Given the description of an element on the screen output the (x, y) to click on. 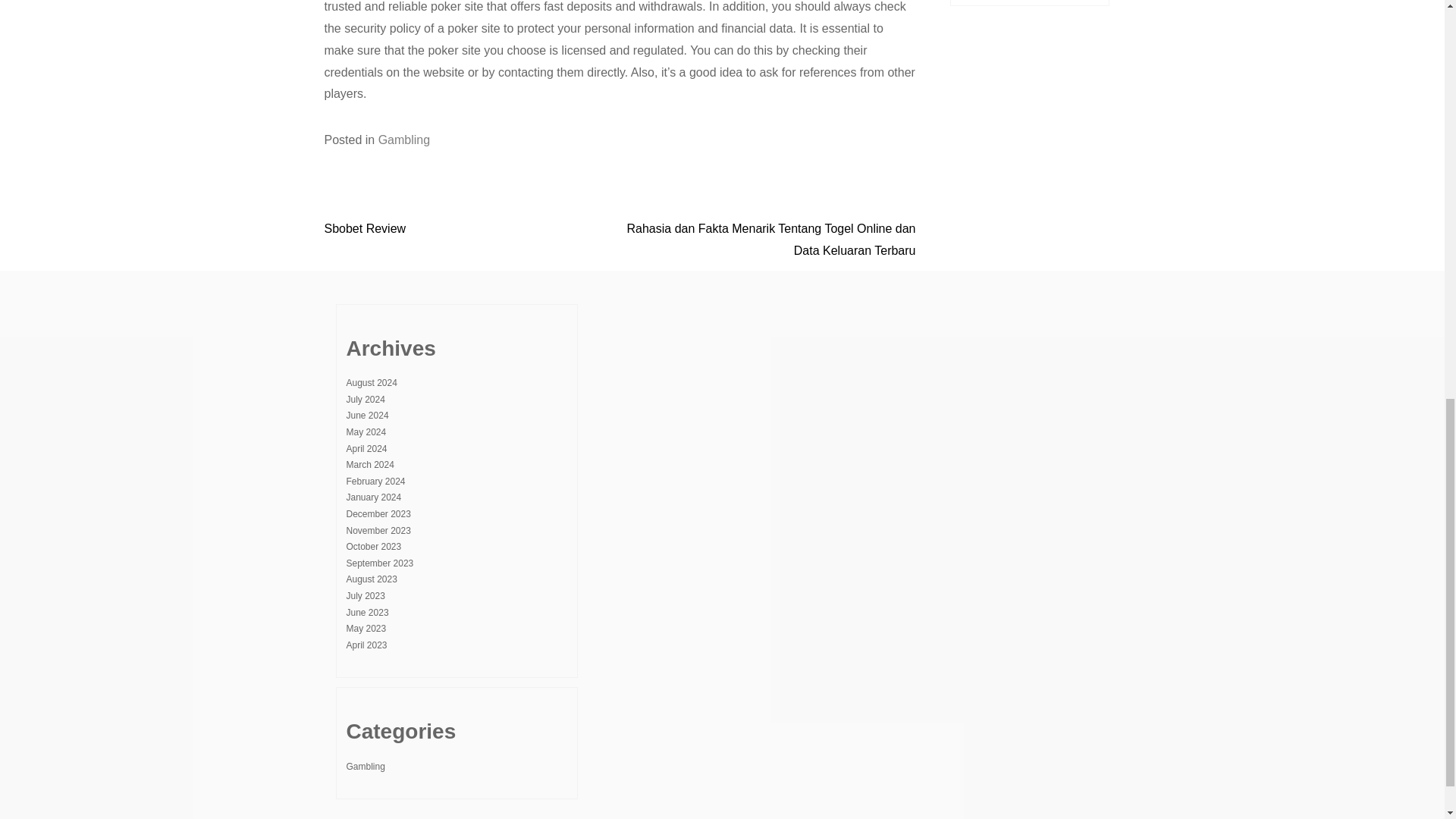
August 2024 (371, 382)
November 2023 (378, 530)
March 2024 (369, 464)
May 2023 (365, 628)
July 2023 (365, 595)
July 2024 (365, 398)
Gambling (365, 766)
August 2023 (371, 579)
June 2024 (367, 415)
